Given the description of an element on the screen output the (x, y) to click on. 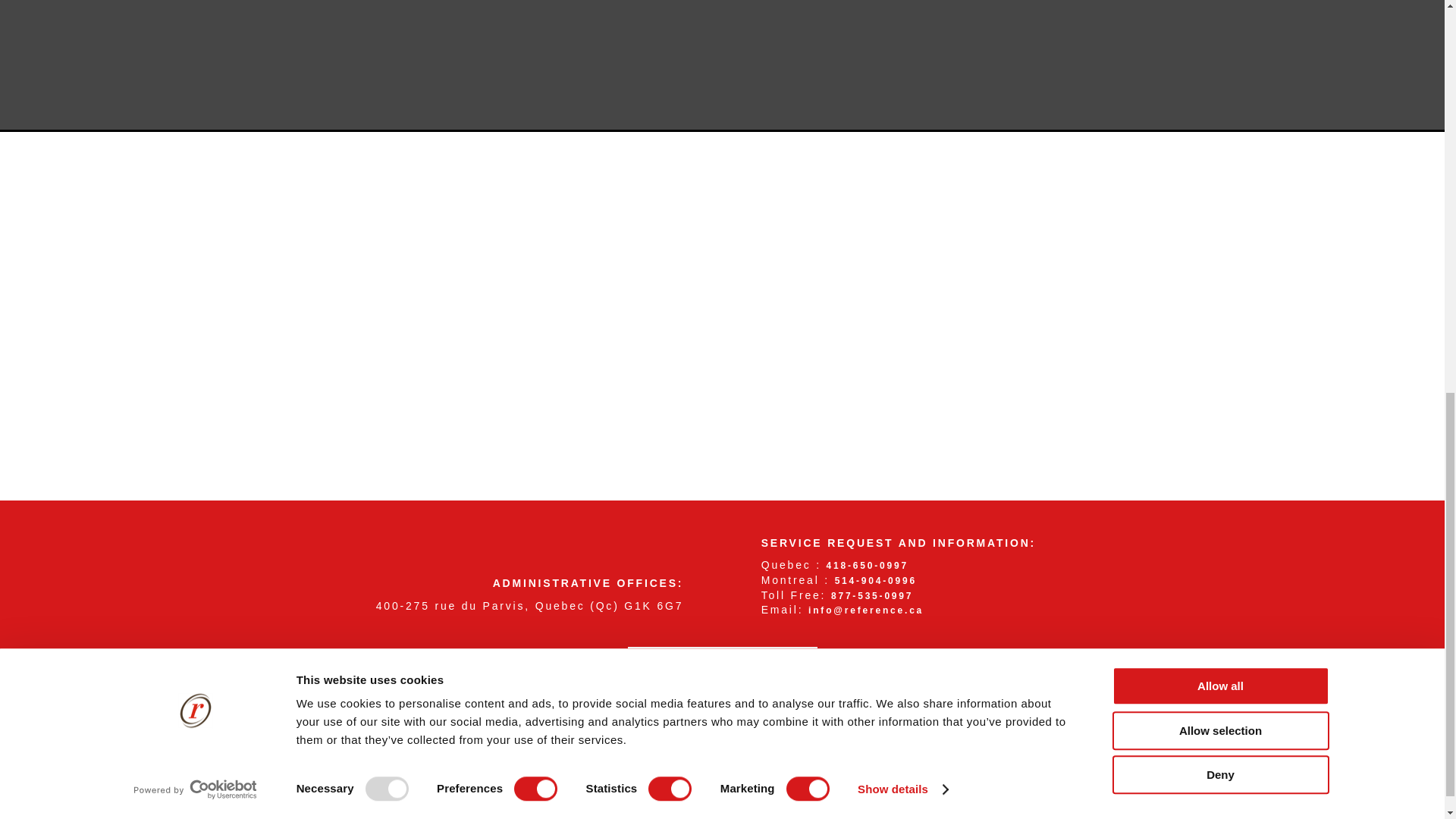
Follow on Facebook (700, 687)
Deny (1219, 10)
Show details (902, 15)
en-logo-reference-systemes-horizontal-blanc (522, 549)
Follow on LinkedIn (743, 687)
